Given the description of an element on the screen output the (x, y) to click on. 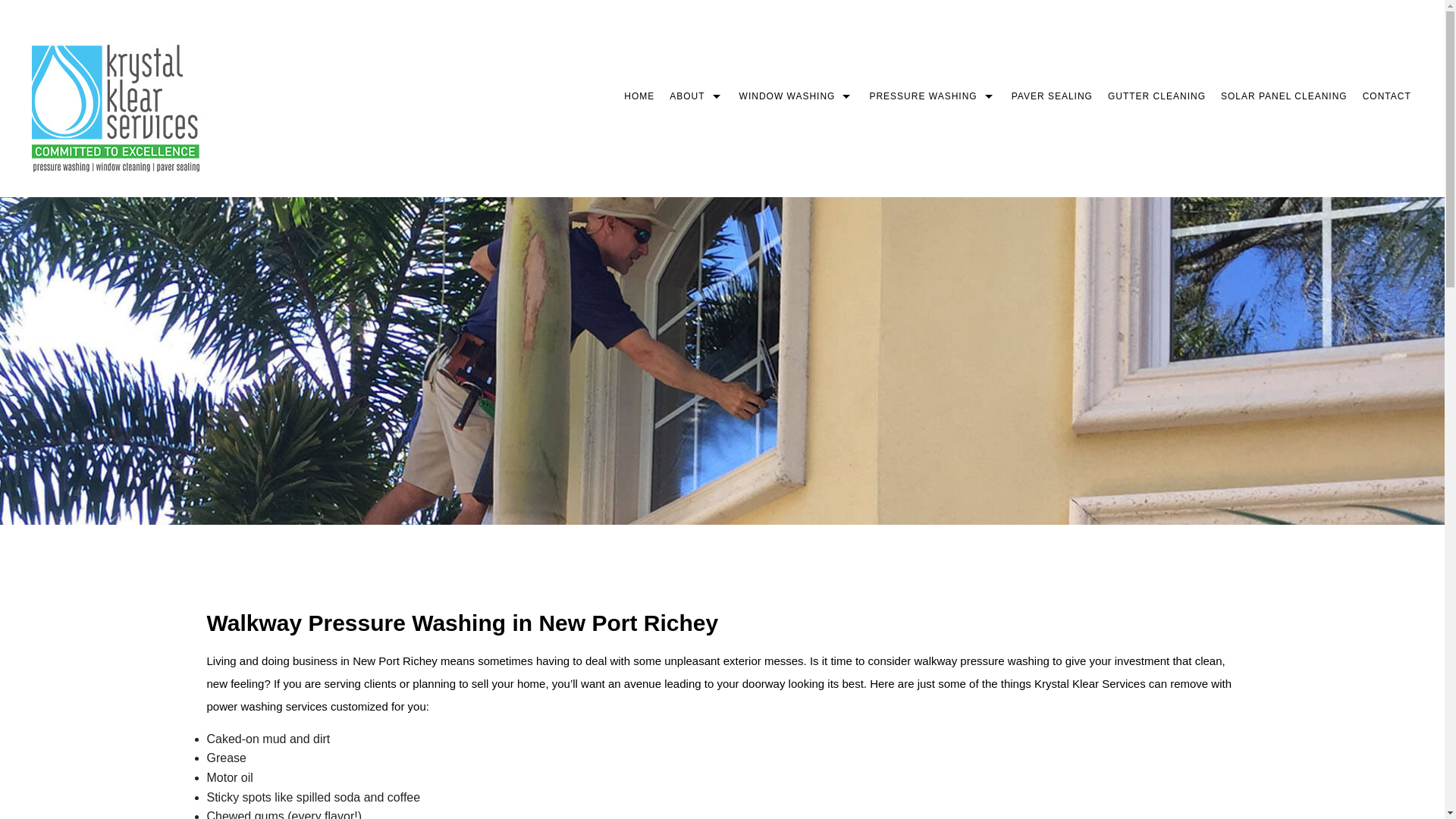
WINDOW WASHING (796, 96)
HOME (638, 96)
Commercial Window Washing (796, 130)
Service Areas (932, 233)
Residential Window Washers (796, 164)
Gallery (696, 164)
FAQ (696, 130)
Driveways (932, 130)
GUTTER CLEANING (1156, 96)
SOLAR PANEL CLEANING (1283, 96)
